Given the description of an element on the screen output the (x, y) to click on. 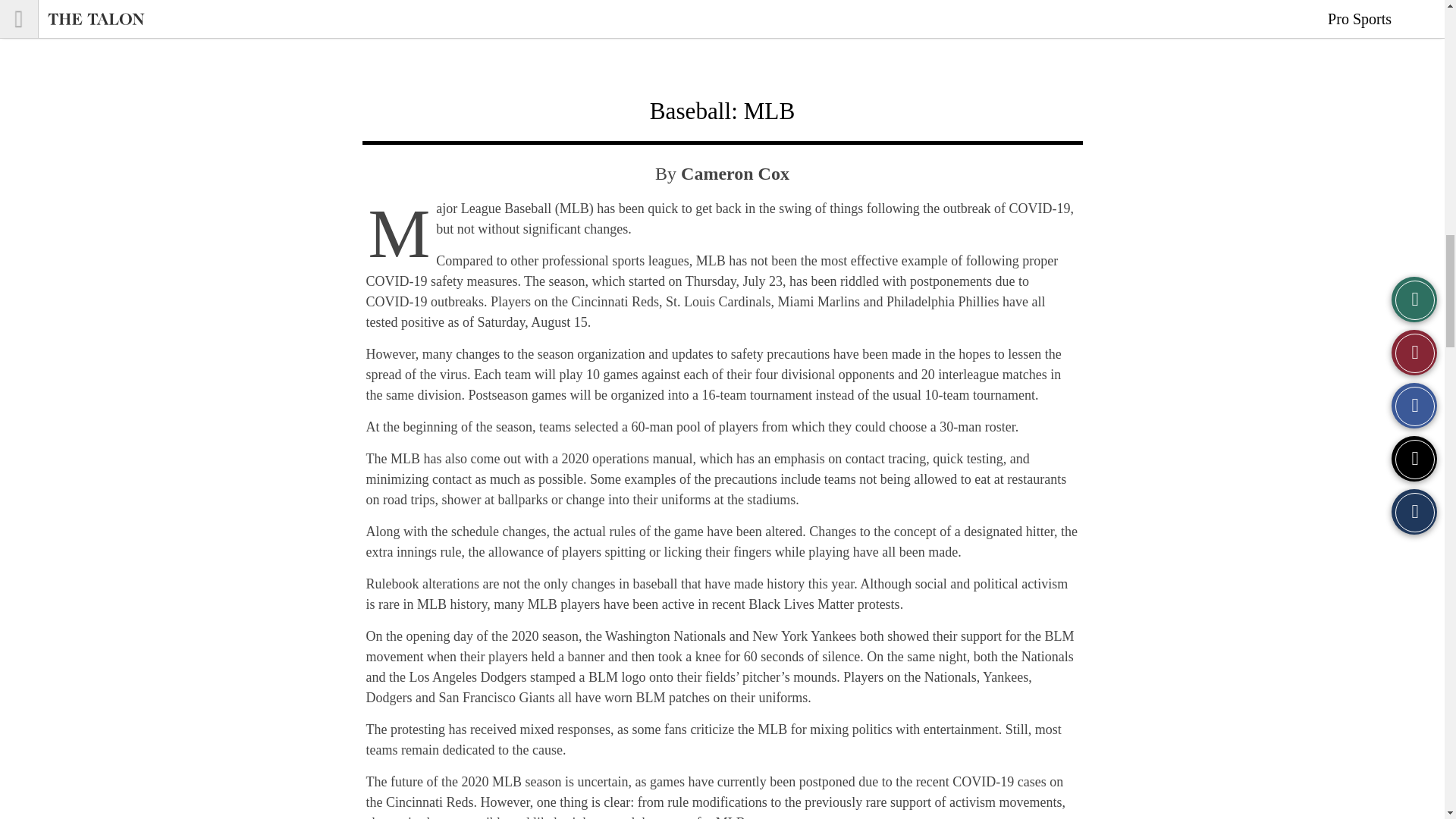
Cameron Cox (735, 173)
